Given the description of an element on the screen output the (x, y) to click on. 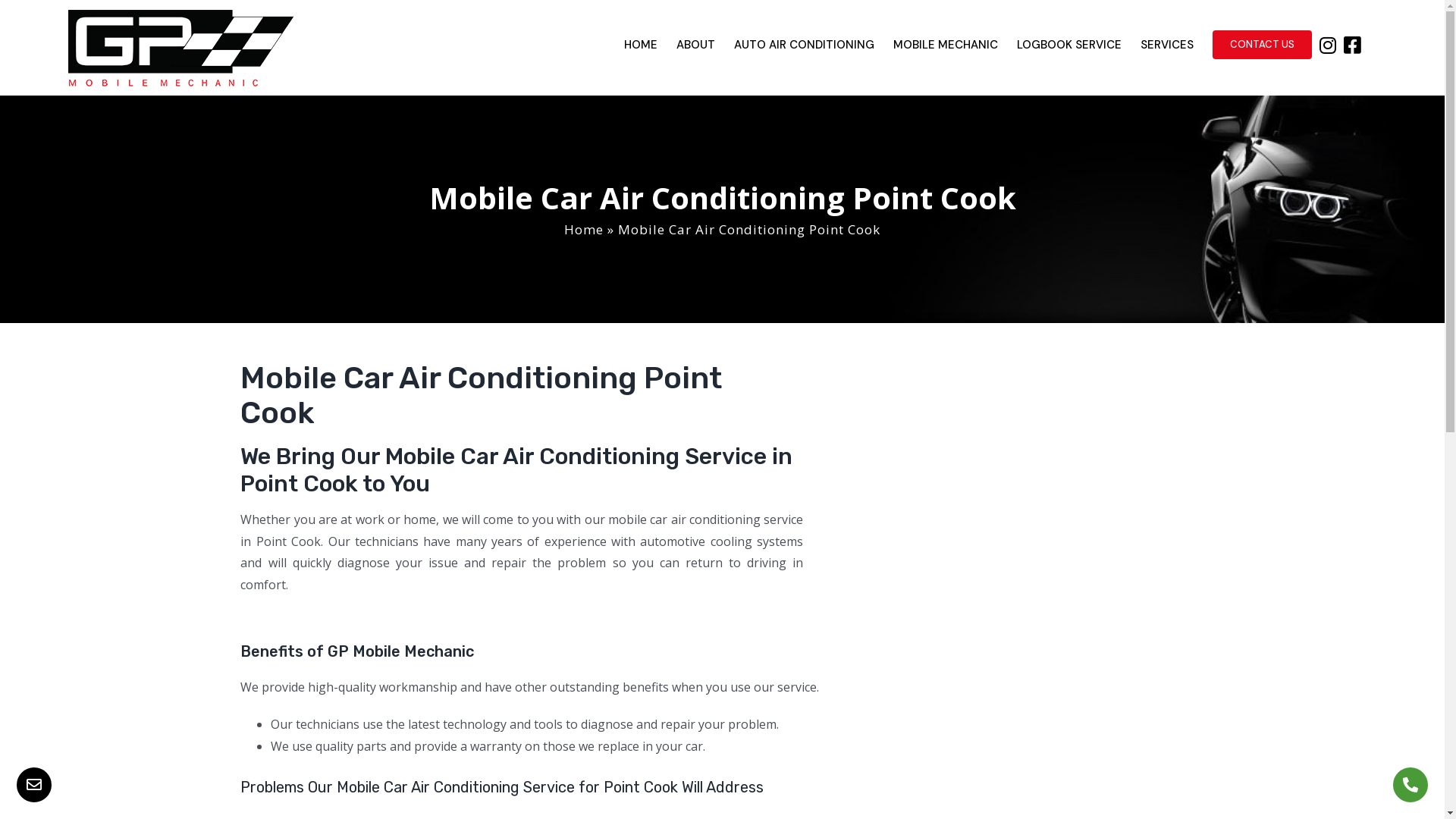
SERVICES Element type: text (1166, 44)
ABOUT Element type: text (695, 44)
CONTACT US Element type: text (1261, 44)
MOBILE MECHANIC Element type: text (945, 44)
LOGBOOK SERVICE Element type: text (1068, 44)
HOME Element type: text (640, 44)
Home Element type: text (583, 229)
AUTO AIR CONDITIONING Element type: text (804, 44)
